Given the description of an element on the screen output the (x, y) to click on. 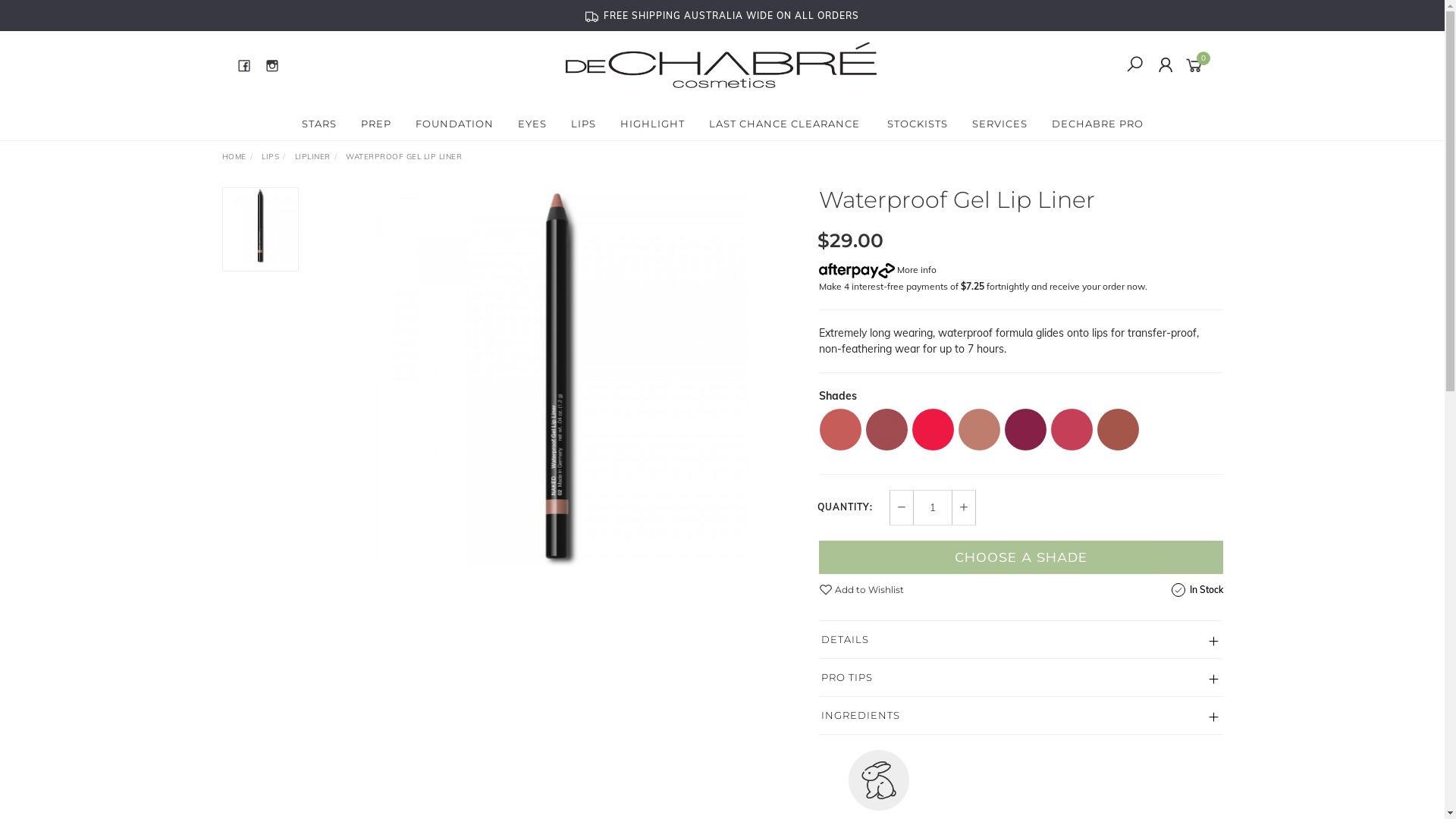
DECHABRE PRO Element type: text (1096, 123)
CHOOSE A SHADE Element type: text (1021, 557)
LIPLINER Element type: text (311, 156)
LIPS Element type: text (582, 123)
LAST CHANCE CLEARANCE Element type: text (783, 123)
WATERPROOF GEL LIP LINER Element type: text (403, 156)
0 Element type: text (1196, 64)
INGREDIENTS Element type: text (1021, 715)
More info Element type: text (877, 269)
PREP Element type: text (375, 123)
EYES Element type: text (531, 123)
DETAILS Element type: text (1021, 639)
FOUNDATION Element type: text (454, 123)
Large View Element type: hover (558, 376)
FREE SHIPPING AUSTRALIA WIDE ON ALL ORDERS Element type: text (722, 15)
PRO TIPS Element type: text (1021, 677)
STARS Element type: text (319, 123)
HOME Element type: text (233, 156)
SERVICES Element type: text (999, 123)
deChabre Cosmetics Pty Ltd Element type: hover (720, 64)
LIPS Element type: text (270, 156)
STOCKISTS Element type: text (917, 123)
HIGHLIGHT Element type: text (652, 123)
Add to Wishlist Element type: text (861, 589)
